Given the description of an element on the screen output the (x, y) to click on. 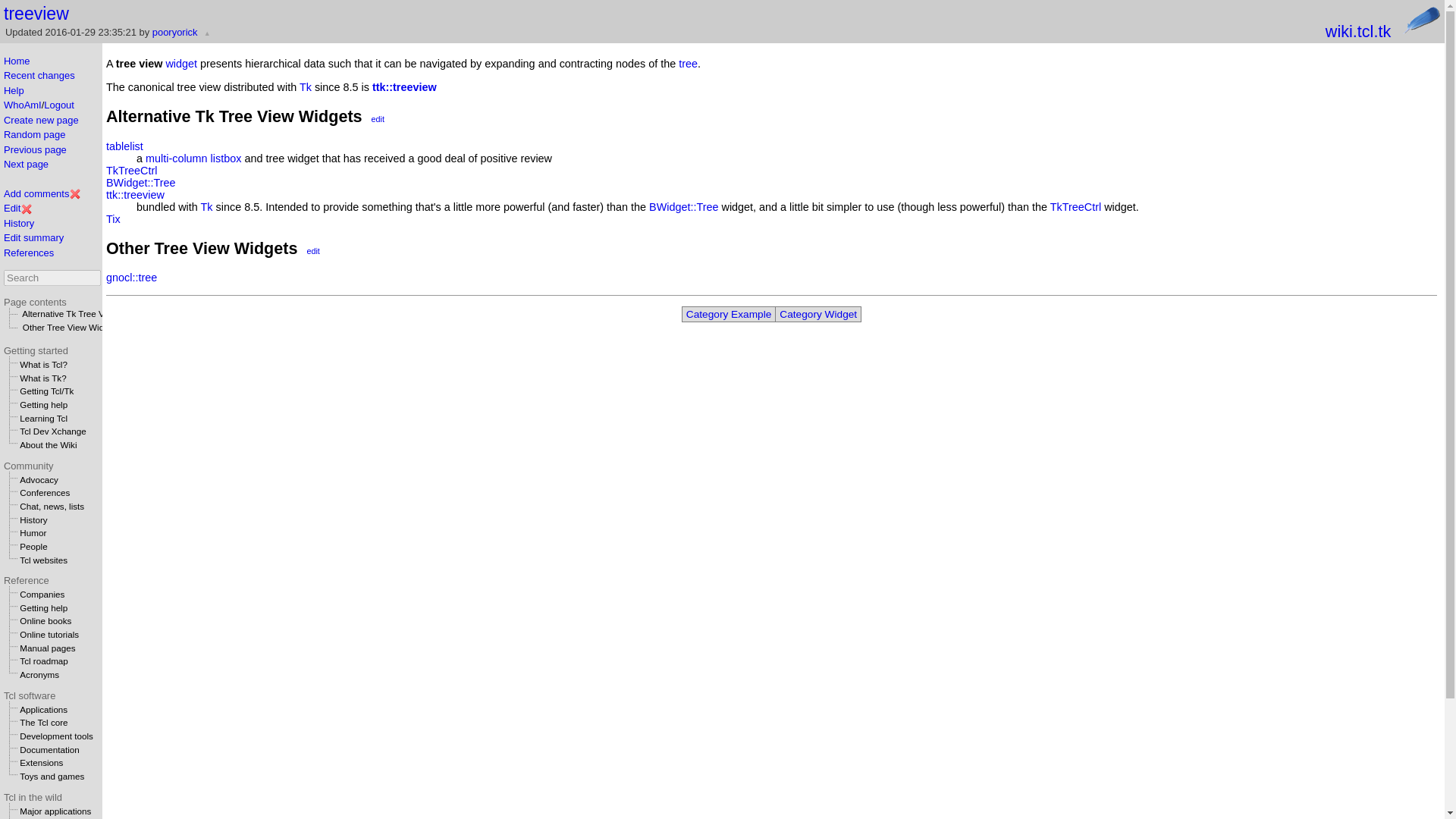
TkTreeCtrl (131, 170)
Random page (34, 134)
widget (180, 63)
listbox (226, 158)
History (18, 223)
Create new page (41, 120)
Previous page (35, 149)
Edit (12, 207)
tree (687, 63)
WhoAmI (23, 104)
 Other Tree View Widgets  (71, 327)
Category Example (728, 314)
Tk (206, 206)
 Alternative Tk Tree View Widgets  (87, 314)
Add comments (36, 193)
